Given the description of an element on the screen output the (x, y) to click on. 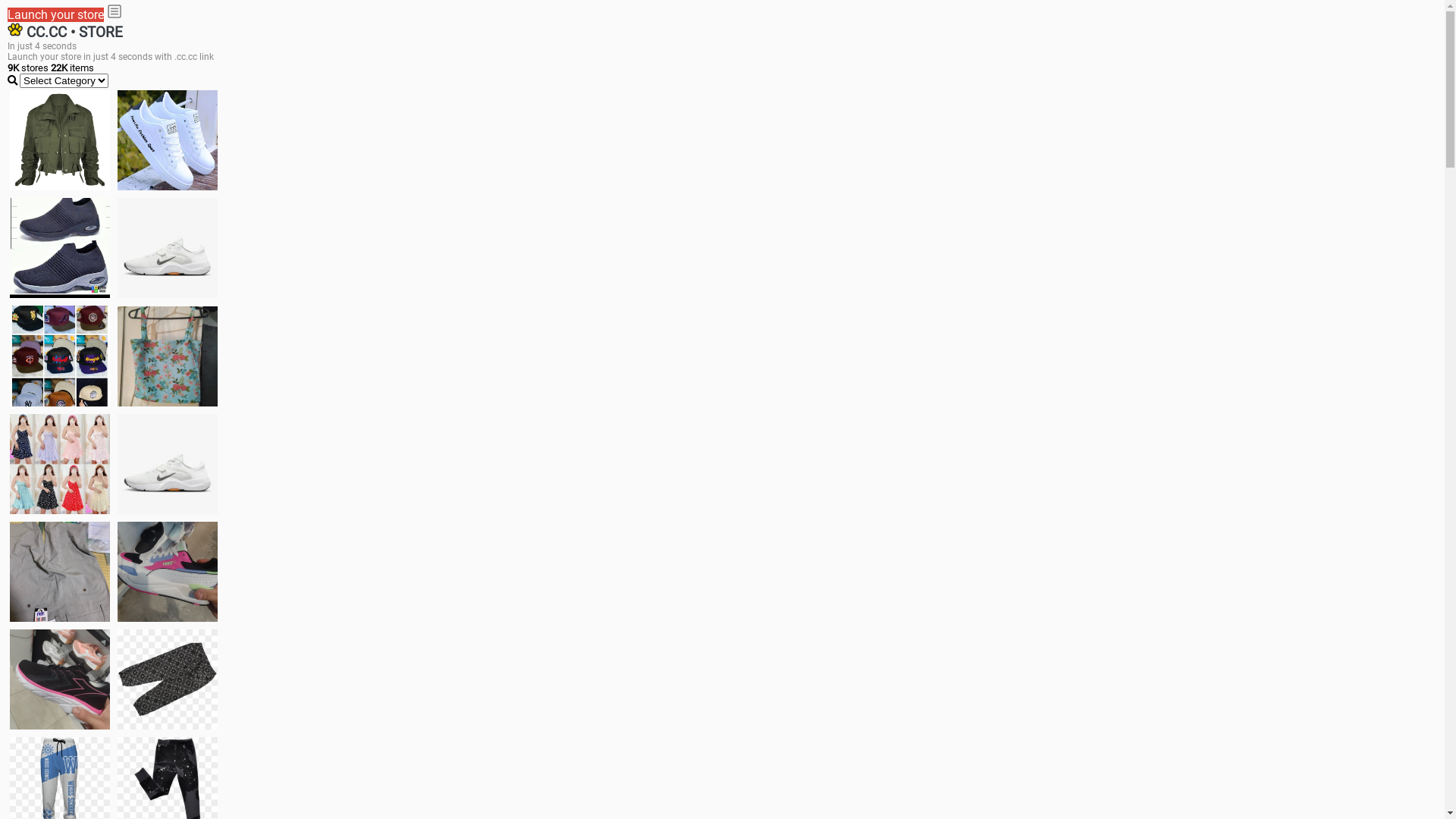
Short pant Element type: hover (167, 679)
Zapatillas Element type: hover (59, 679)
shoes for boys Element type: hover (59, 247)
Dress/square nect top Element type: hover (59, 464)
Ukay cloth Element type: hover (167, 356)
Zapatillas pumas Element type: hover (167, 571)
Shoes for boys Element type: hover (167, 247)
Things we need Element type: hover (59, 355)
white shoes Element type: hover (167, 140)
Launch your store Element type: text (55, 14)
Shoes Element type: hover (167, 464)
jacket Element type: hover (59, 140)
